Given the description of an element on the screen output the (x, y) to click on. 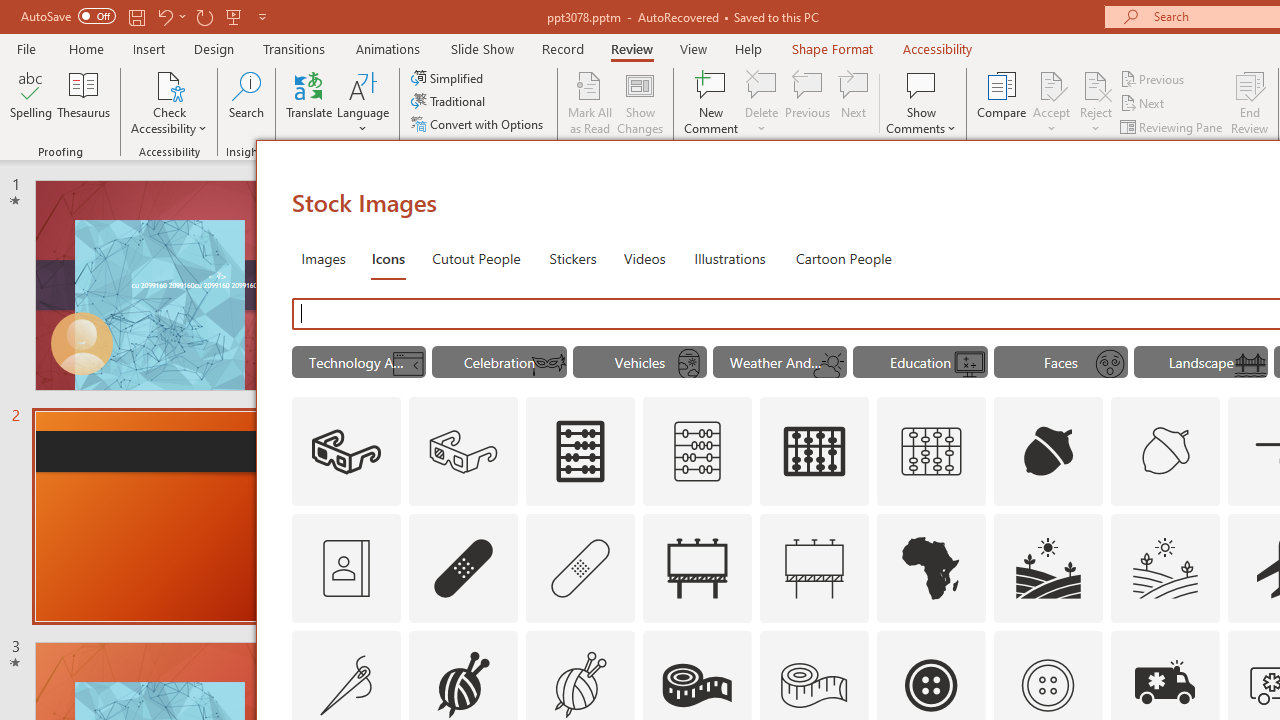
Previous (1153, 78)
Videos (644, 258)
AutomationID: Icons_Agriculture_M (1165, 568)
"Education" Icons. (920, 362)
"Landscape" Icons. (1201, 362)
Language (363, 102)
Next (1144, 103)
AutomationID: Icons_Abacus1 (815, 452)
Cutout People (477, 258)
"Technology And Electronics" Icons. (358, 362)
